Given the description of an element on the screen output the (x, y) to click on. 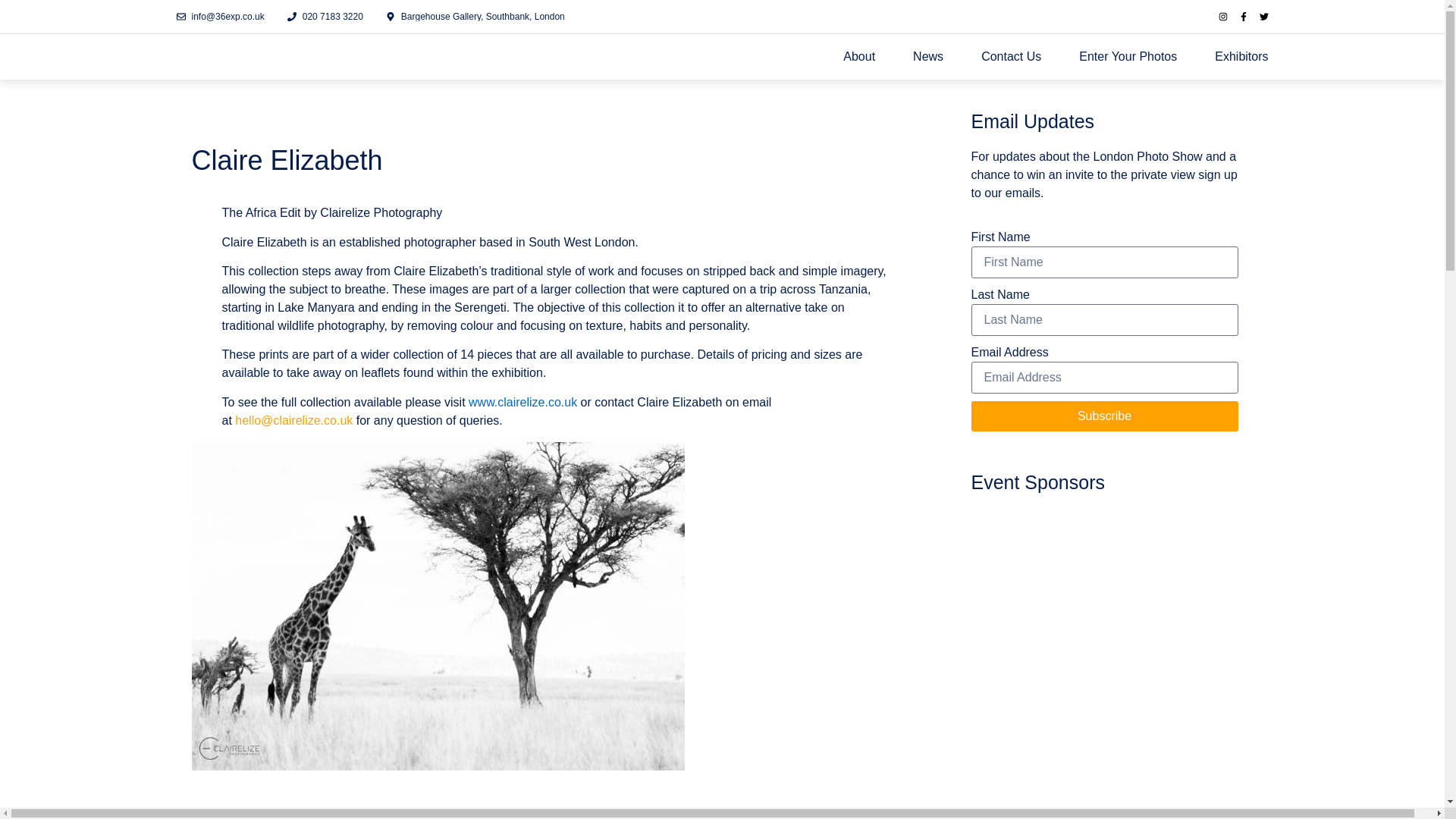
About (859, 64)
Enter Your Photos (1127, 62)
020 7183 3220 (324, 16)
Contact Us (1011, 62)
www.clairelize.co.uk (522, 401)
Exhibitors (1241, 60)
News (927, 64)
